Given the description of an element on the screen output the (x, y) to click on. 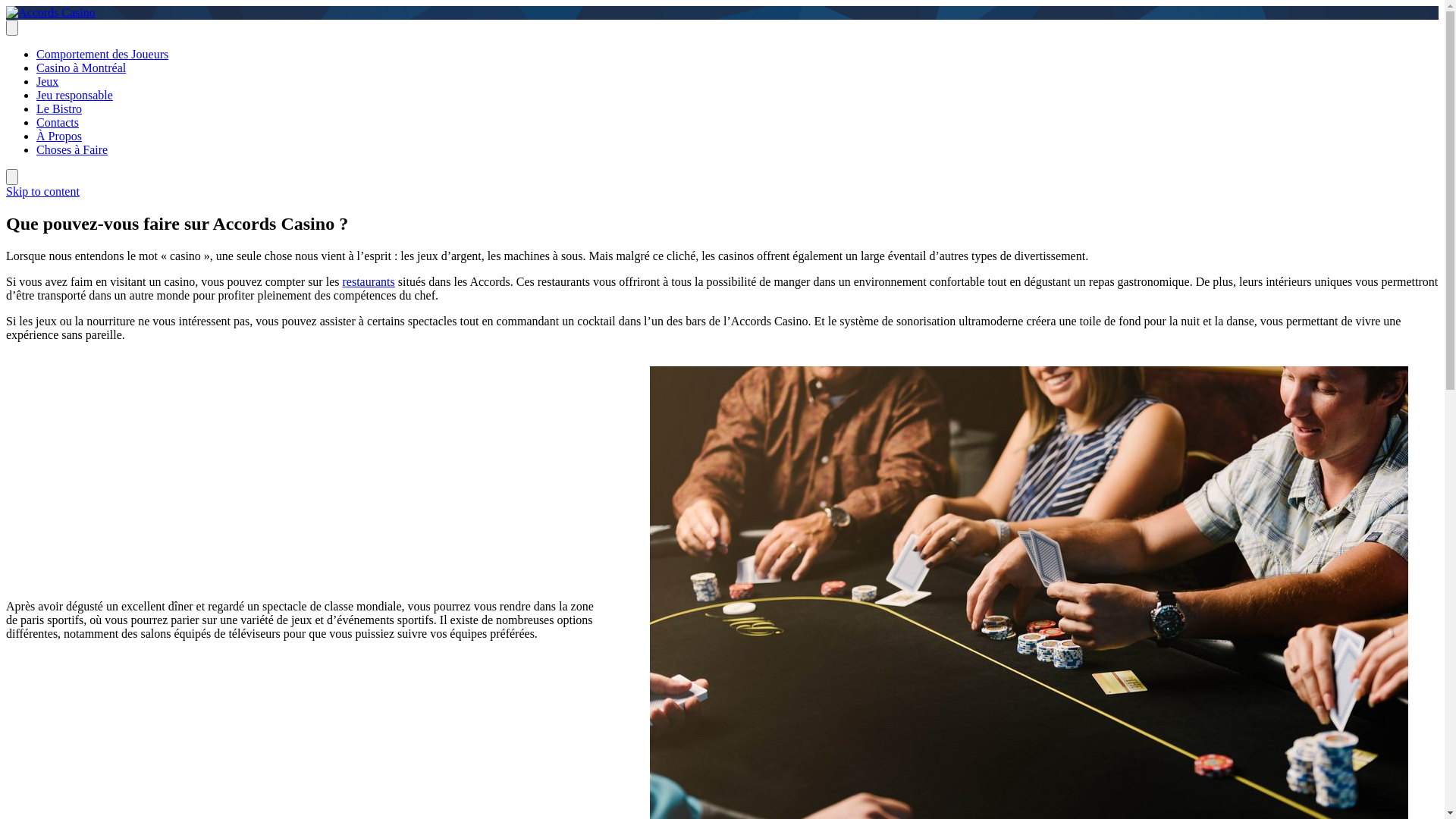
Jeu responsable Element type: text (74, 94)
Le Bistro Element type: text (58, 108)
Jeux Element type: text (47, 81)
restaurants Element type: text (368, 281)
Comportement des Joueurs Element type: text (102, 53)
Contacts Element type: text (57, 122)
Accords Casino Element type: text (44, 37)
Skip to content Element type: text (42, 191)
